Given the description of an element on the screen output the (x, y) to click on. 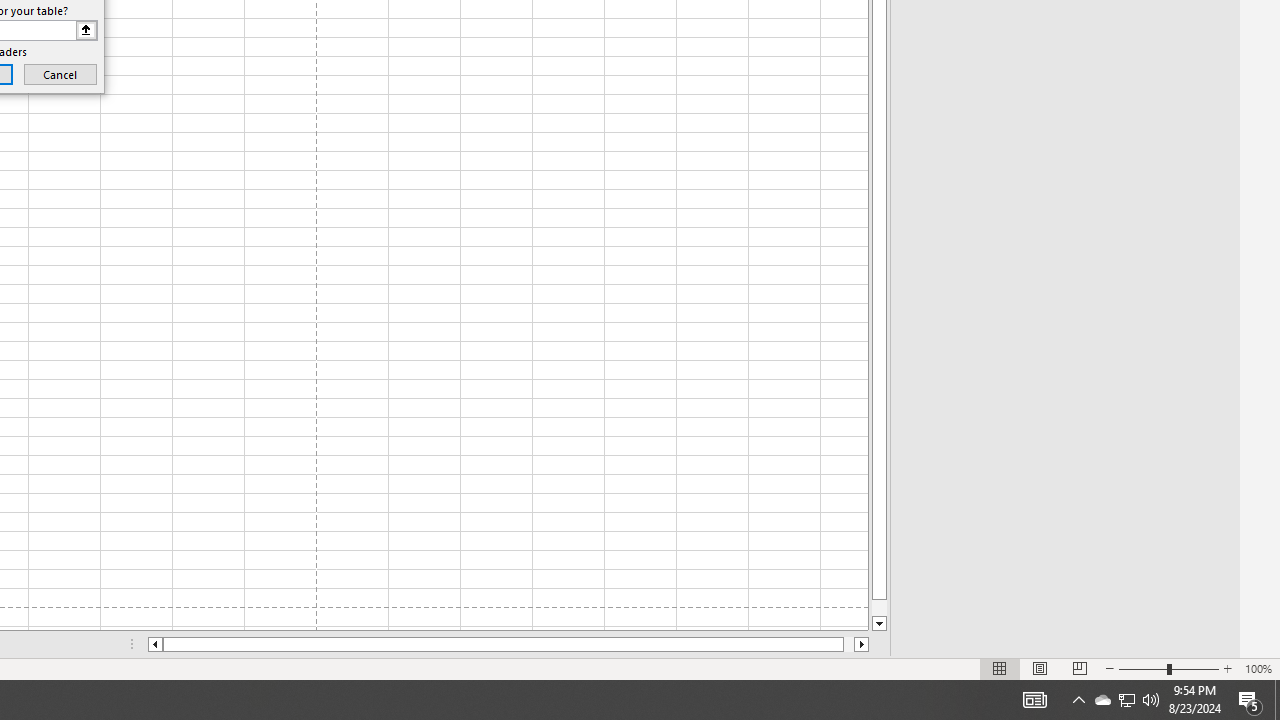
Line down (879, 624)
Class: NetUIScrollBar (507, 644)
Column left (153, 644)
Zoom (1168, 668)
Page down (879, 607)
Page right (848, 644)
Zoom In (1227, 668)
Normal (1000, 668)
Column right (861, 644)
Page Break Preview (1079, 668)
Zoom Out (1142, 668)
